Given the description of an element on the screen output the (x, y) to click on. 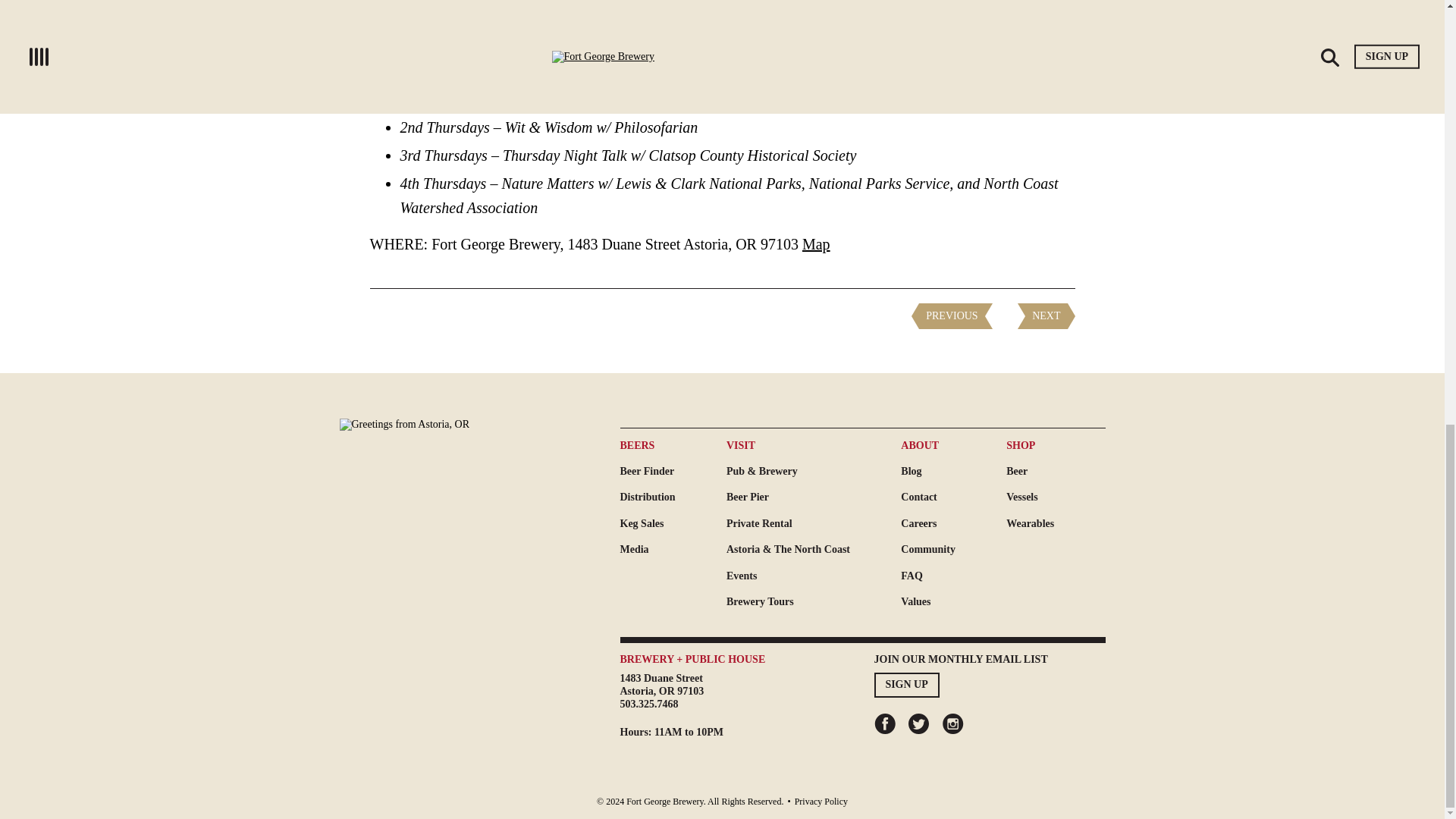
Beer (1055, 471)
Blog (953, 471)
Beer Pier (813, 497)
Private Rental (662, 684)
FAQ (813, 524)
ABOUT (953, 575)
Wearables (953, 445)
VISIT (1055, 524)
April 23 - Sunday Night Music: El Camino Organ Trio (813, 445)
